Given the description of an element on the screen output the (x, y) to click on. 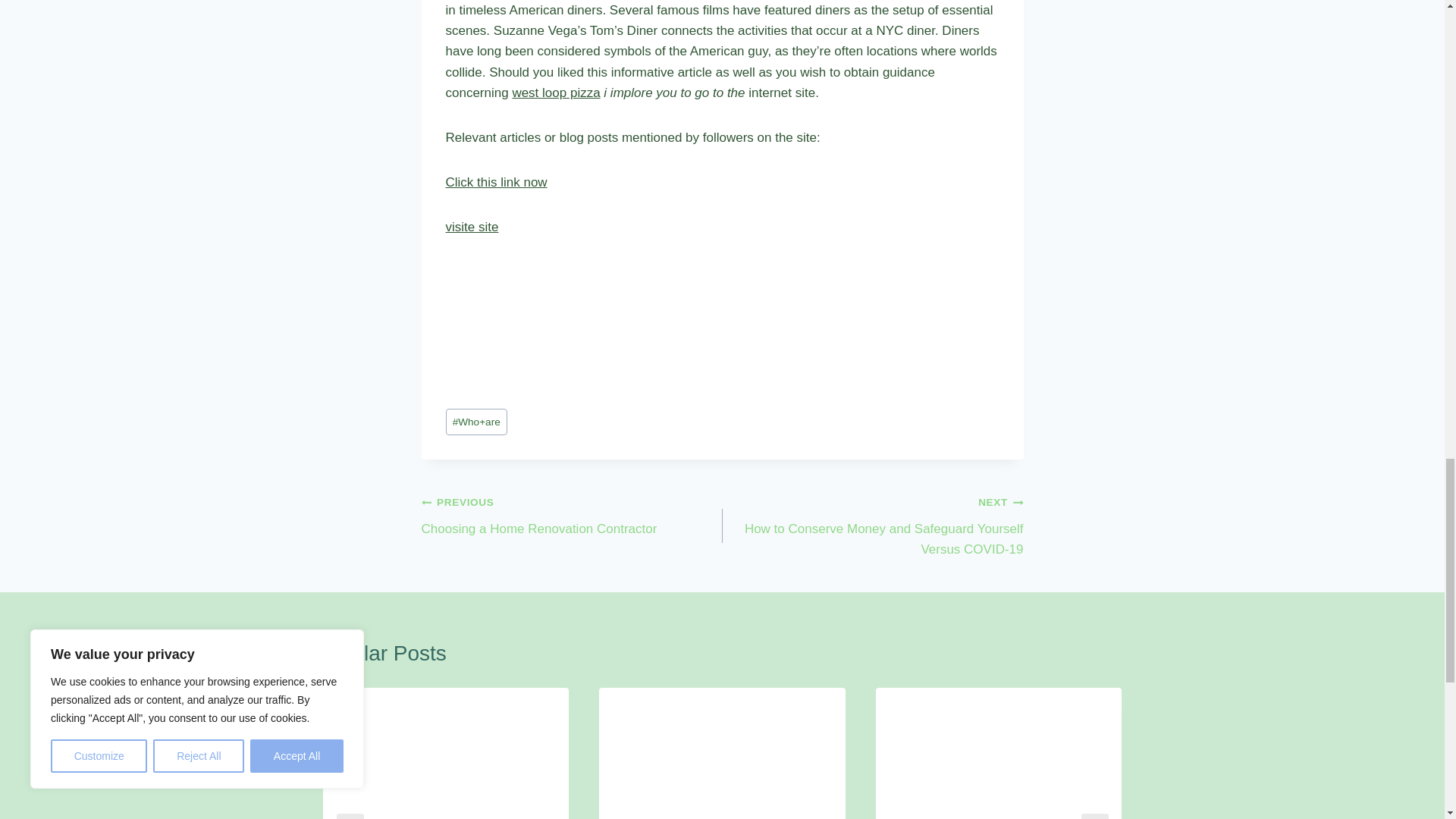
visite site (472, 227)
west loop pizza (555, 92)
Click this link now (496, 182)
